Given the description of an element on the screen output the (x, y) to click on. 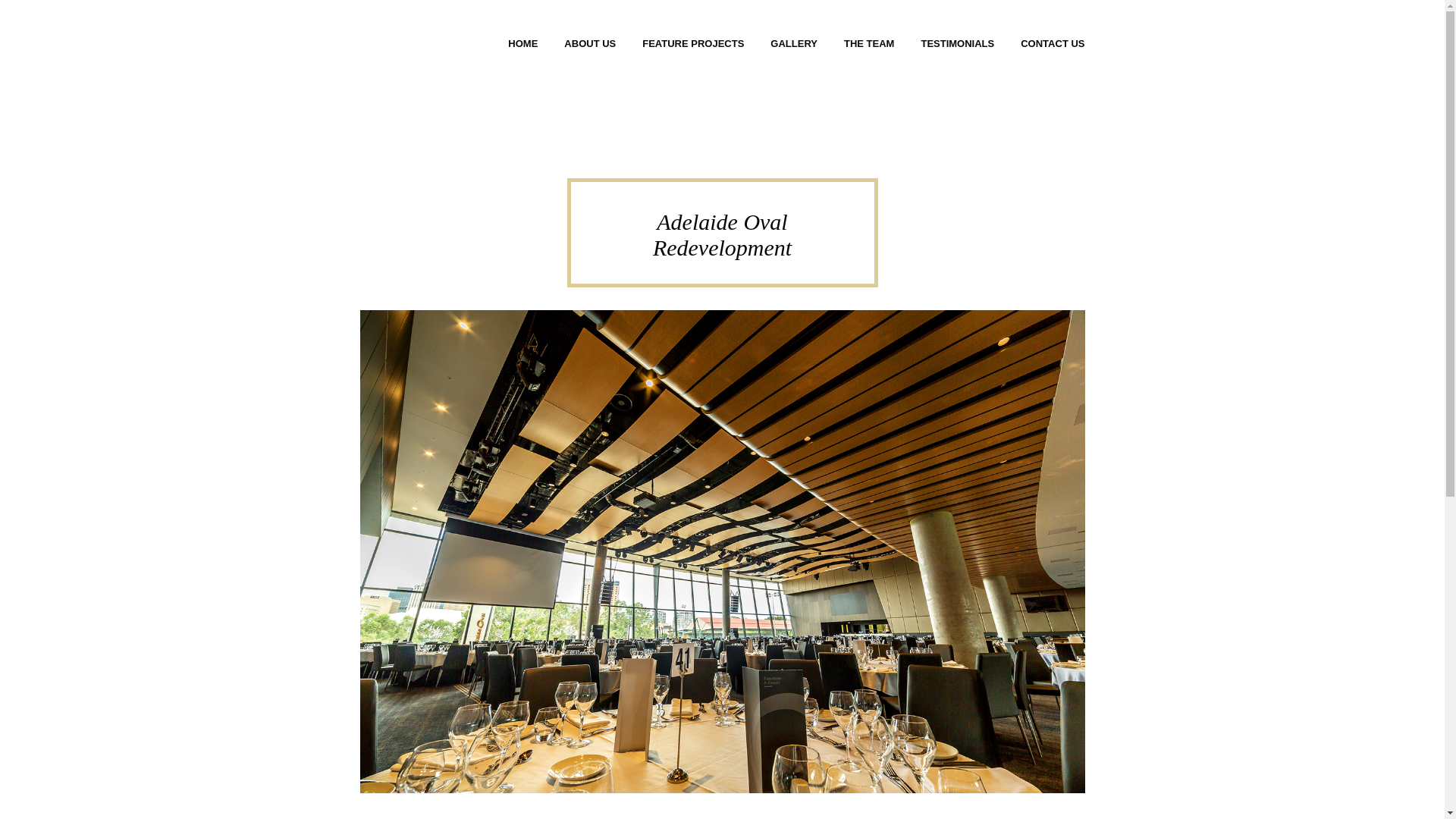
TESTIMONIALS (957, 43)
HOME (522, 43)
FEATURE PROJECTS (693, 43)
CONTACT US (1052, 43)
THE TEAM (868, 43)
GALLERY (793, 43)
ABOUT US (589, 43)
